Given the description of an element on the screen output the (x, y) to click on. 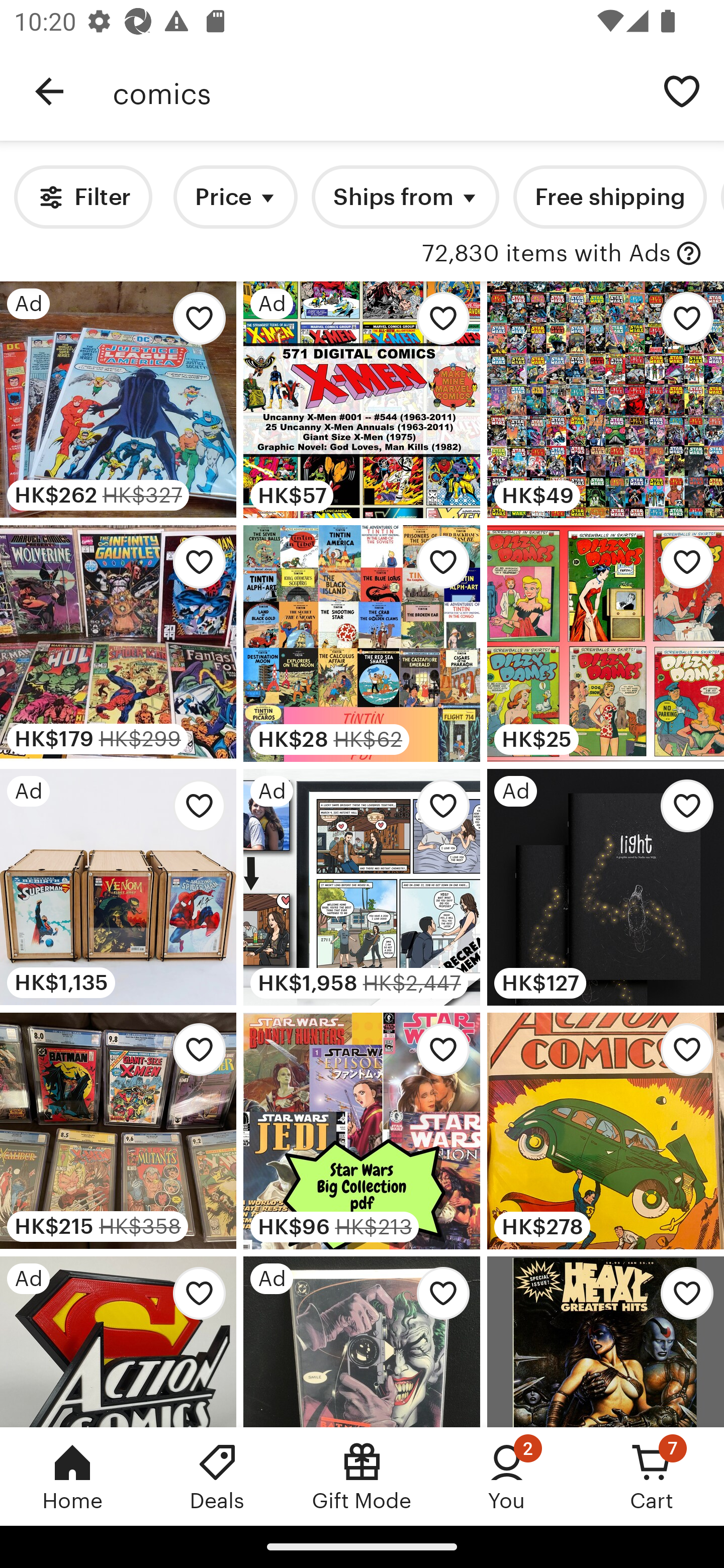
Navigate up (49, 91)
Save search (681, 90)
comics (375, 91)
Filter (82, 197)
Price (235, 197)
Ships from (405, 197)
Free shipping (609, 197)
72,830 items with Ads (546, 253)
with Ads (688, 253)
Add Star Wars Comics Collection to favorites (681, 322)
Add Tin Tin Comics Book to favorites (438, 567)
Add Star Wars Comics Book to favorites (438, 1054)
Deals (216, 1475)
Gift Mode (361, 1475)
You, 2 new notifications You (506, 1475)
Cart, 7 new notifications Cart (651, 1475)
